Given the description of an element on the screen output the (x, y) to click on. 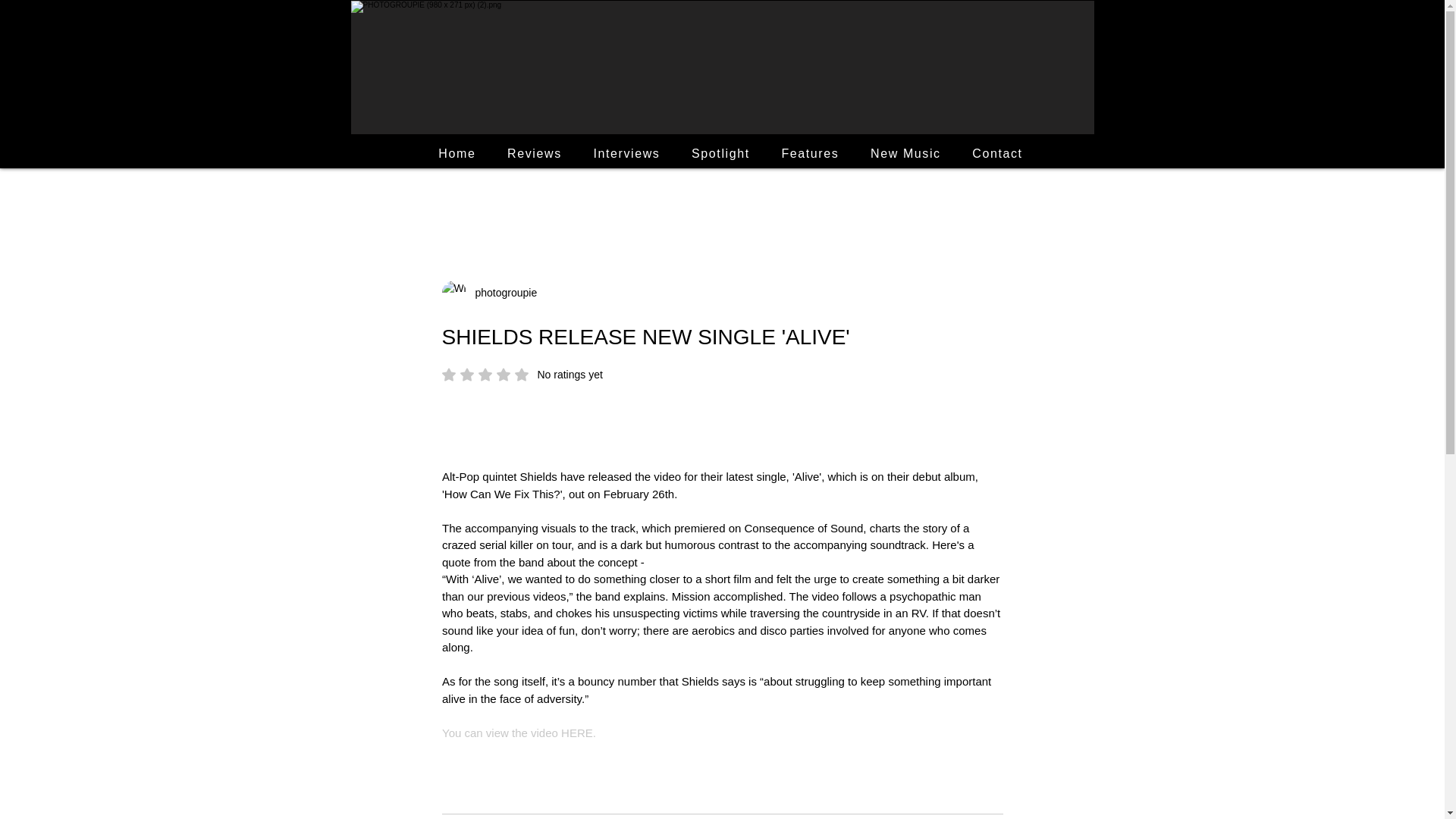
Features (521, 374)
Interviews (809, 153)
Home (626, 153)
Contact (457, 153)
Spotlight (997, 153)
photogroupie (719, 153)
New Music (501, 293)
You can view the video HERE. (905, 153)
